Given the description of an element on the screen output the (x, y) to click on. 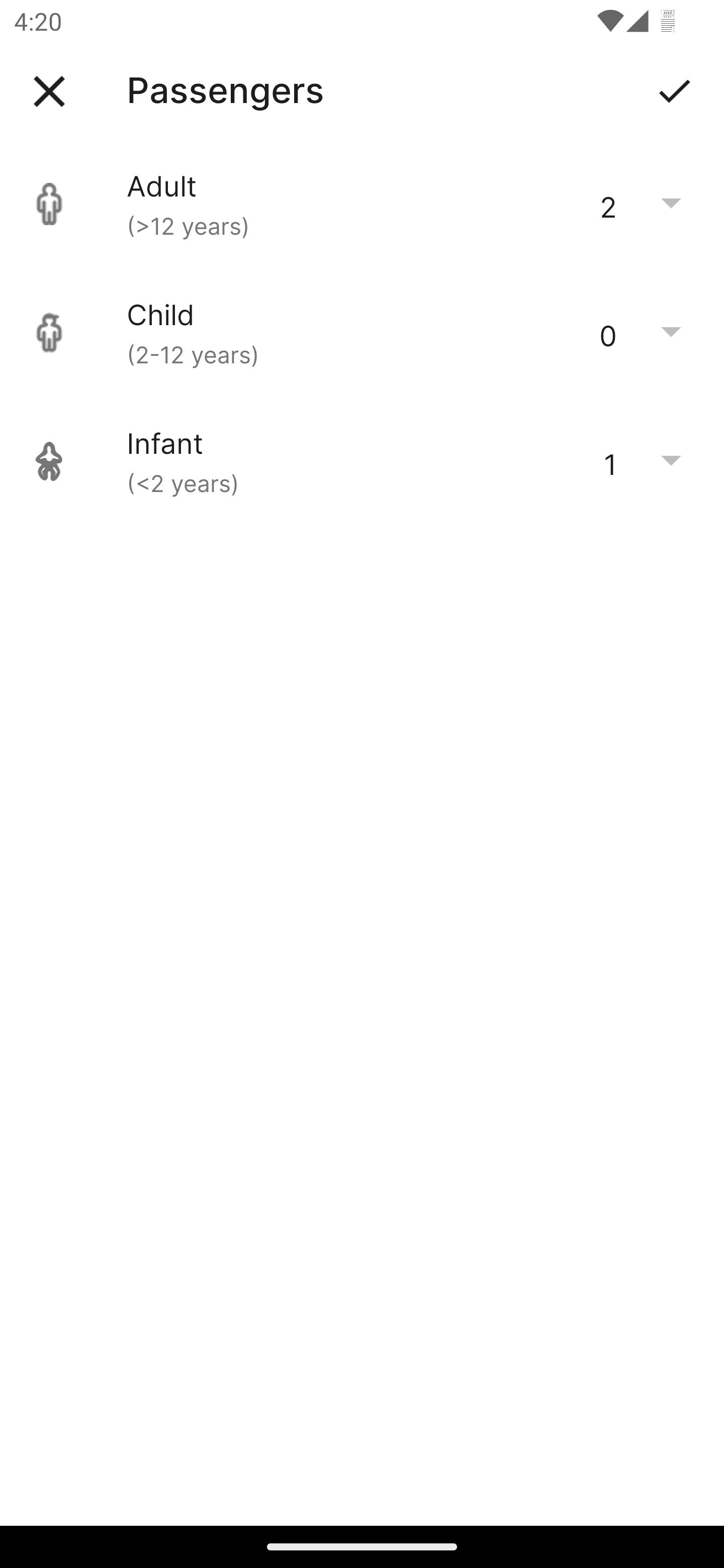
Adult (>12 years) 2 (362, 204)
Child (2-12 years) 0 (362, 332)
Infant (<2 years) 1 (362, 461)
